Given the description of an element on the screen output the (x, y) to click on. 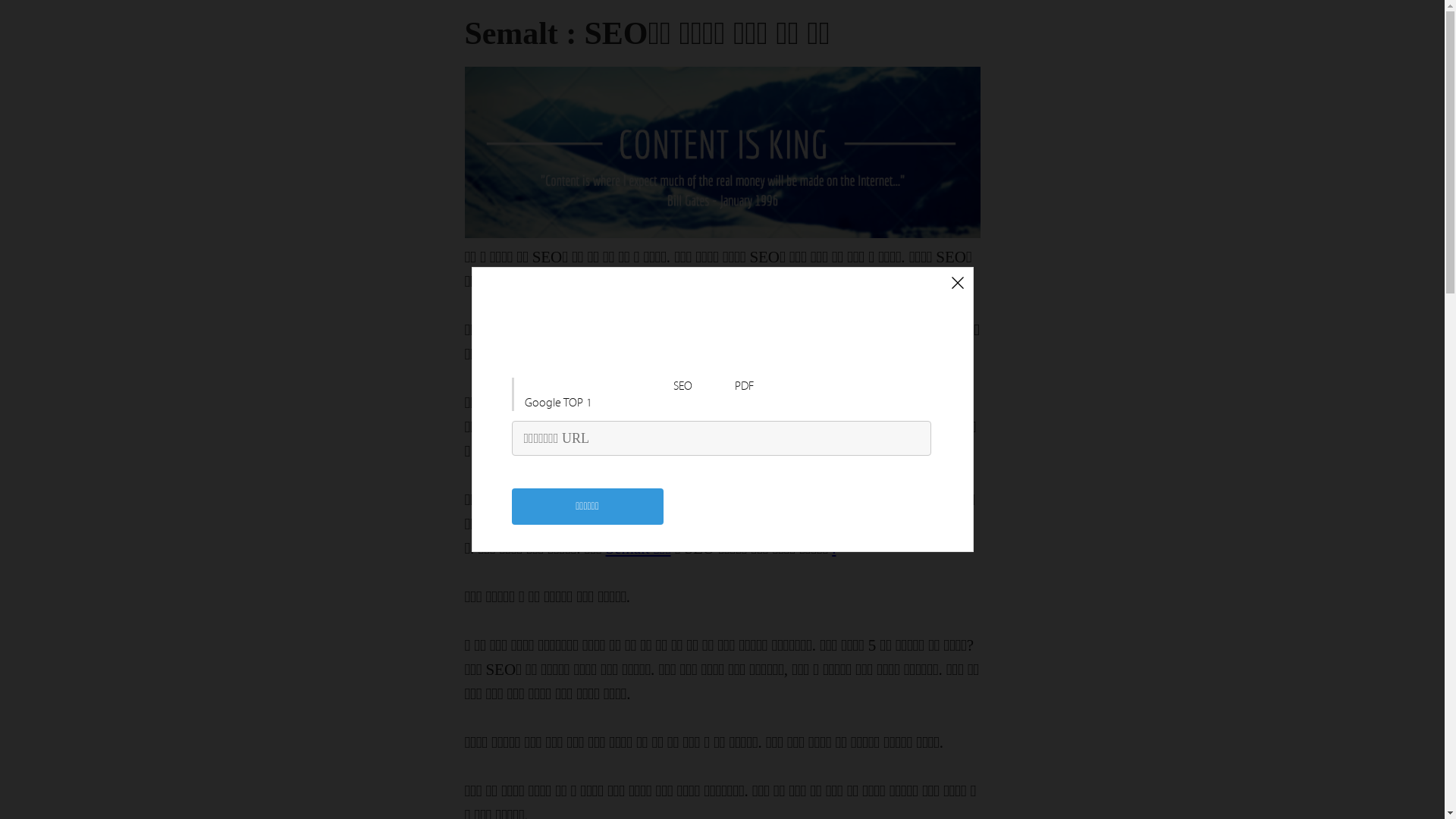
. Element type: text (833, 548)
